Given the description of an element on the screen output the (x, y) to click on. 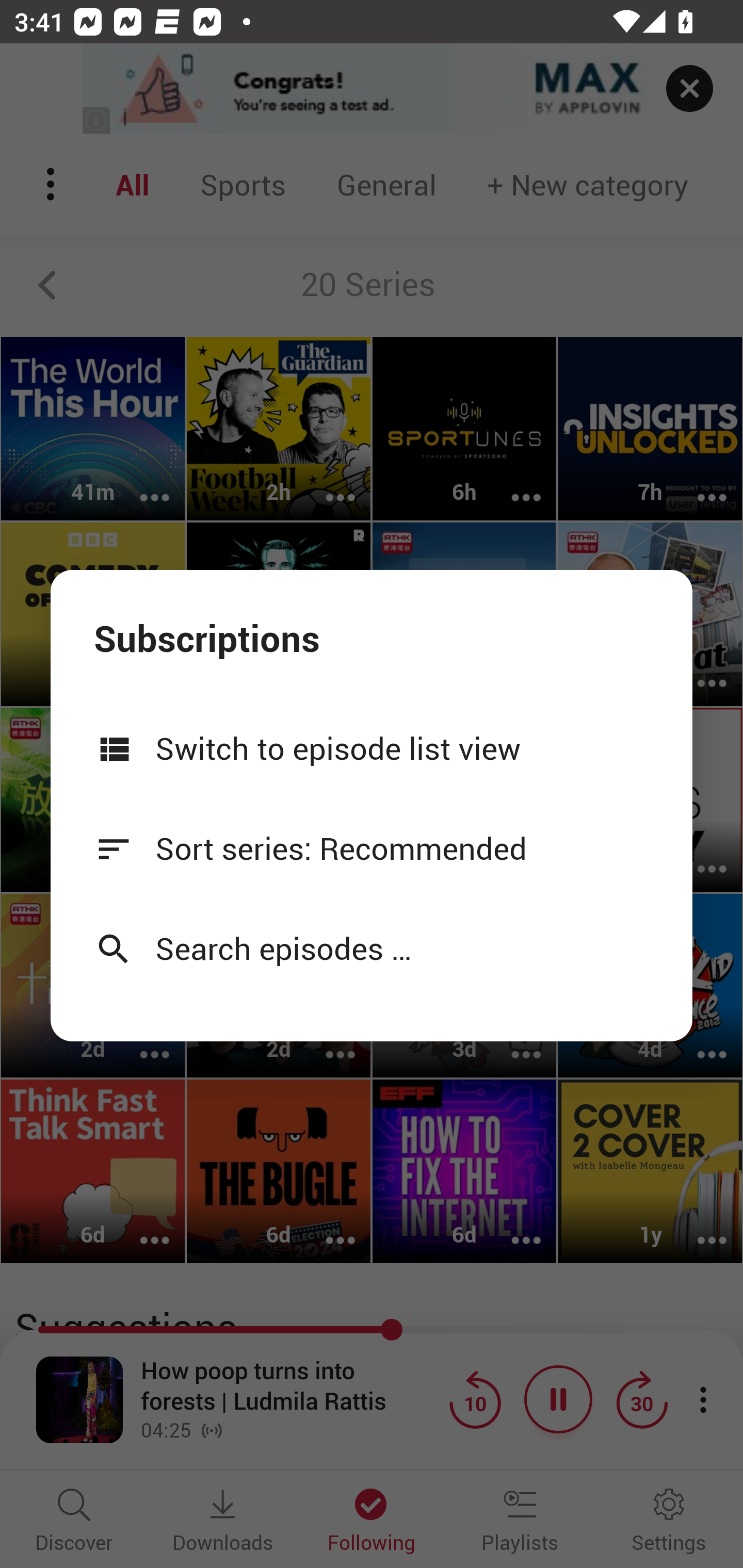
Switch to episode list view (371, 747)
Sort series: Recommended (371, 848)
Search episodes … (371, 948)
